Given the description of an element on the screen output the (x, y) to click on. 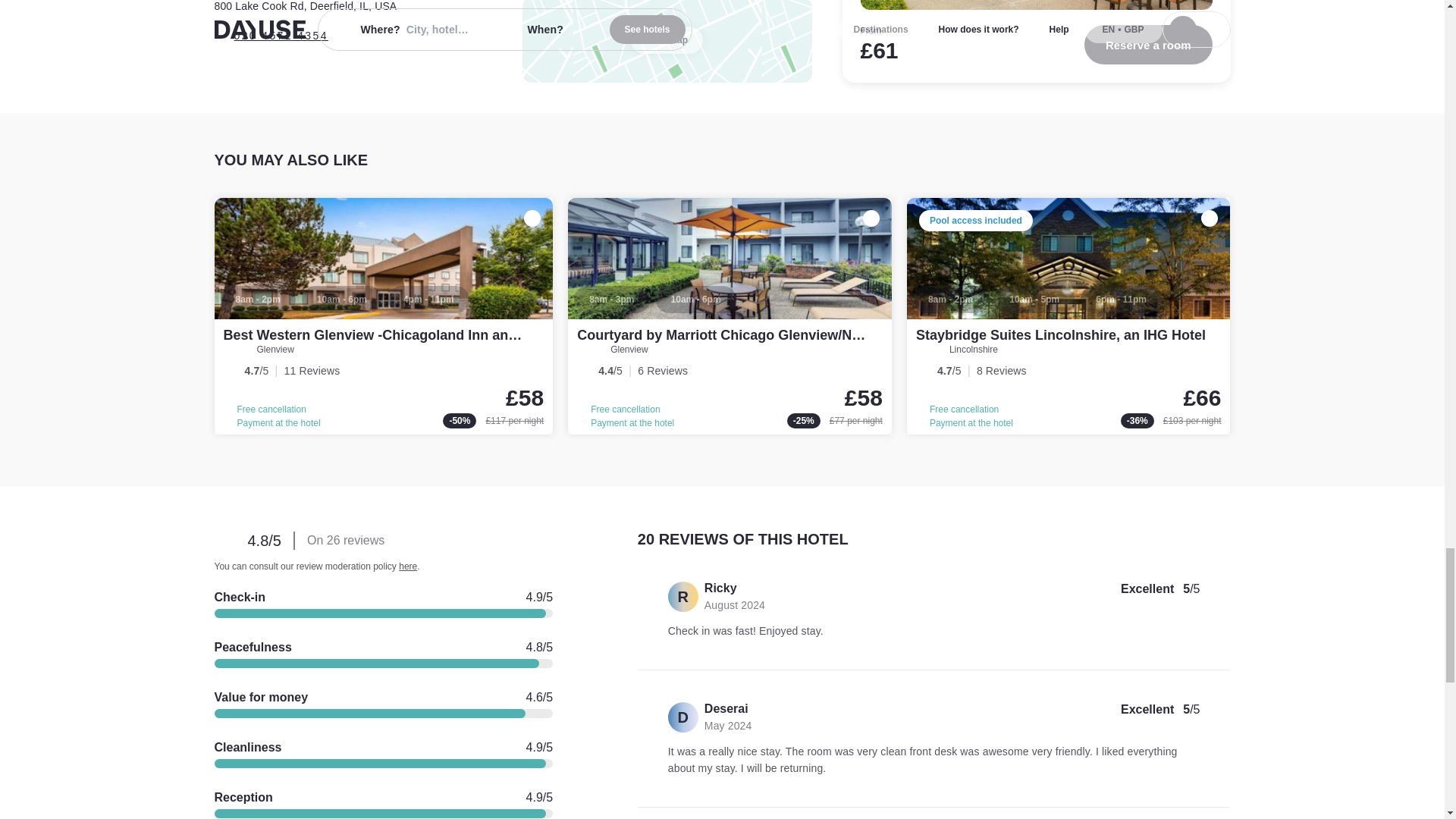
Staybridge Suites Lincolnshire, an IHG Hotel (1060, 335)
Best Western Glenview -Chicagoland Inn and Suites (383, 316)
Best Western Glenview -Chicagoland Inn and Suites (391, 335)
Staybridge Suites Lincolnshire, an IHG Hotel (1068, 316)
